Given the description of an element on the screen output the (x, y) to click on. 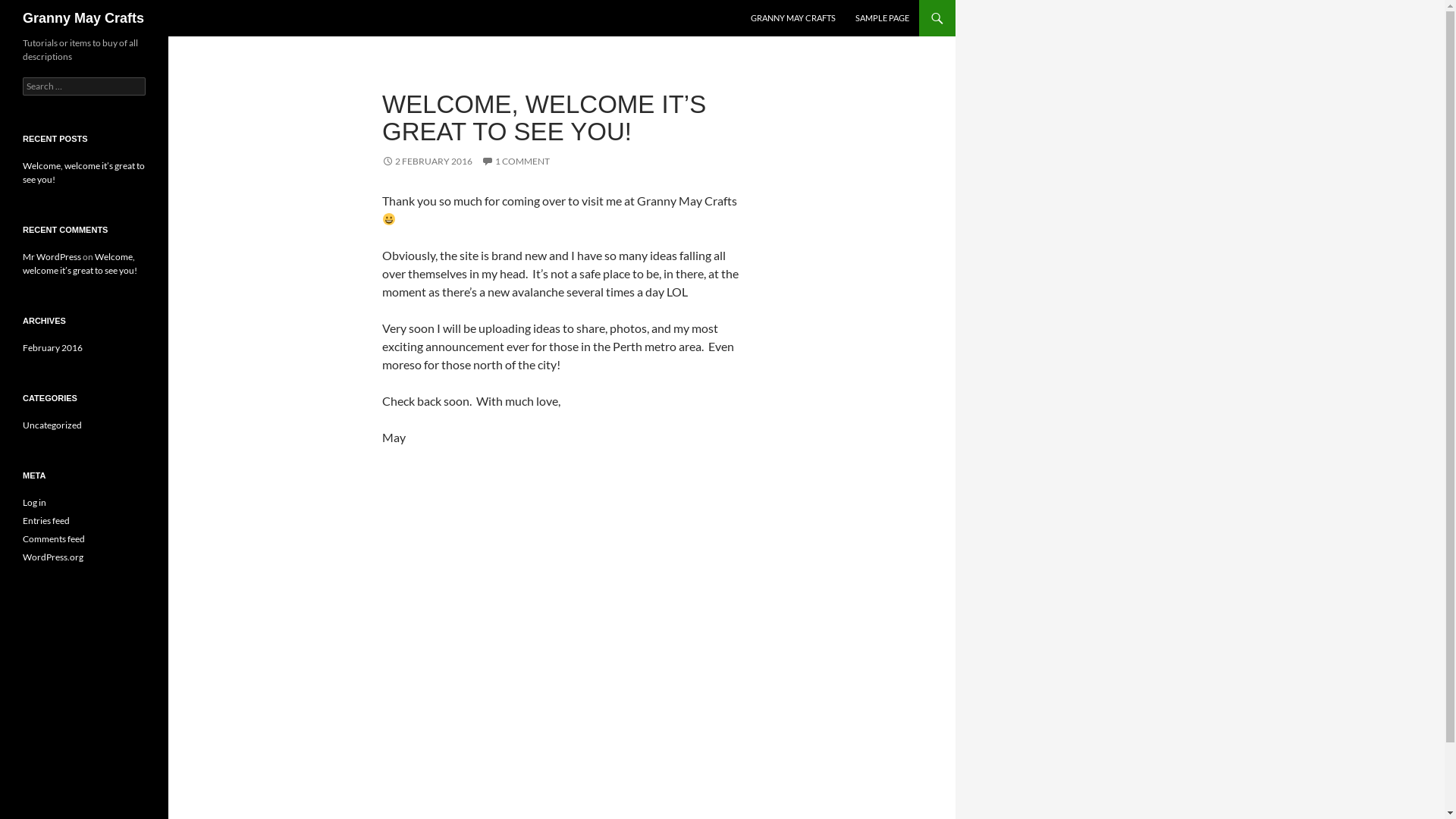
2 FEBRUARY 2016 Element type: text (427, 160)
Uncategorized Element type: text (51, 424)
WordPress.org Element type: text (52, 556)
Log in Element type: text (34, 502)
Search Element type: text (30, 8)
Comments feed Element type: text (53, 538)
SAMPLE PAGE Element type: text (882, 18)
1 COMMENT Element type: text (515, 160)
Granny May Crafts Element type: text (83, 18)
February 2016 Element type: text (52, 347)
GRANNY MAY CRAFTS Element type: text (792, 18)
Mr WordPress Element type: text (51, 256)
Entries feed Element type: text (45, 520)
